Given the description of an element on the screen output the (x, y) to click on. 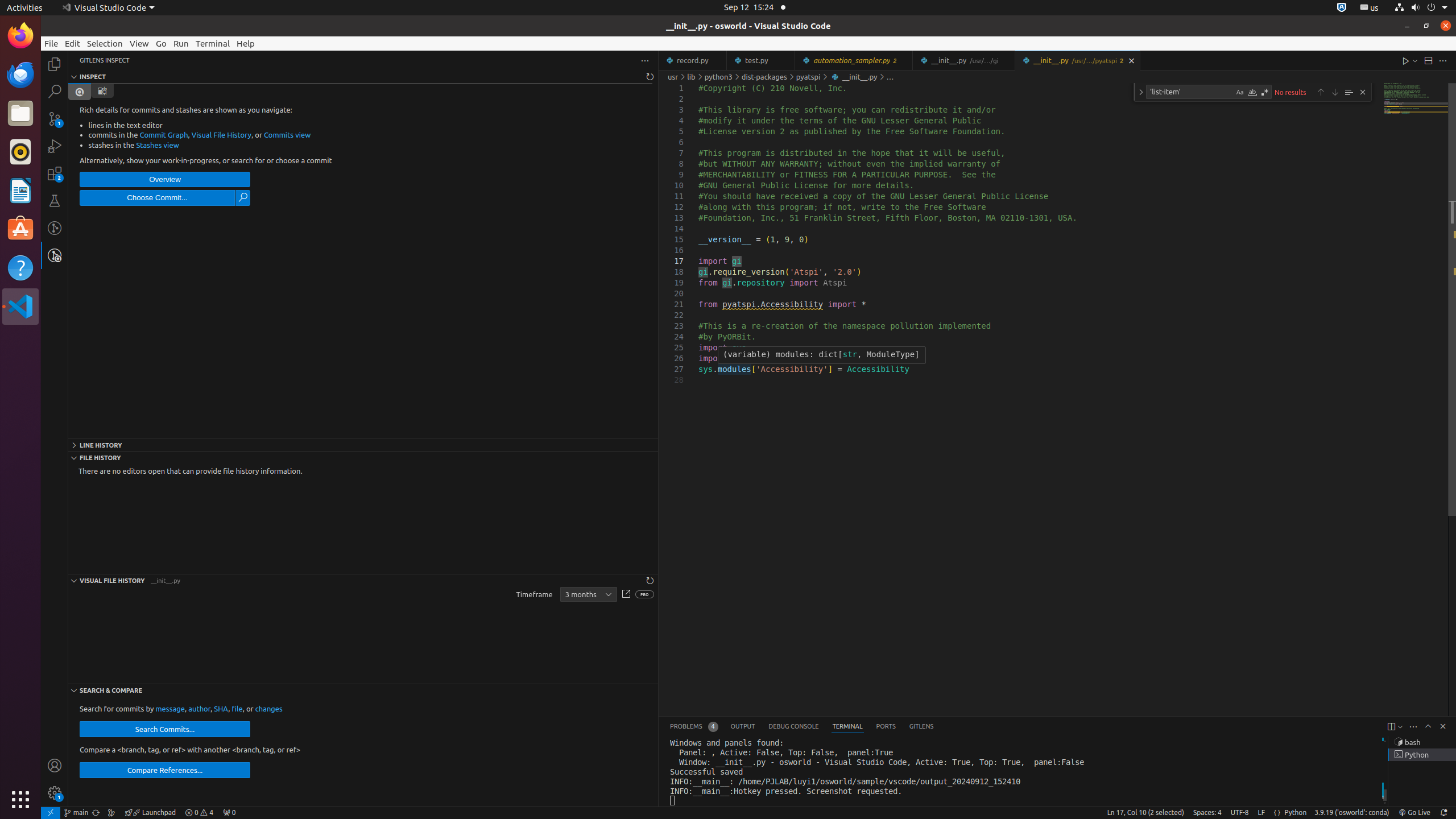
Timeframe Element type: combo-box (588, 594)
Run Element type: push-button (181, 43)
Inspect Section Element type: push-button (363, 76)
Close (Ctrl+W) Element type: push-button (1131, 60)
file Element type: push-button (236, 708)
